Given the description of an element on the screen output the (x, y) to click on. 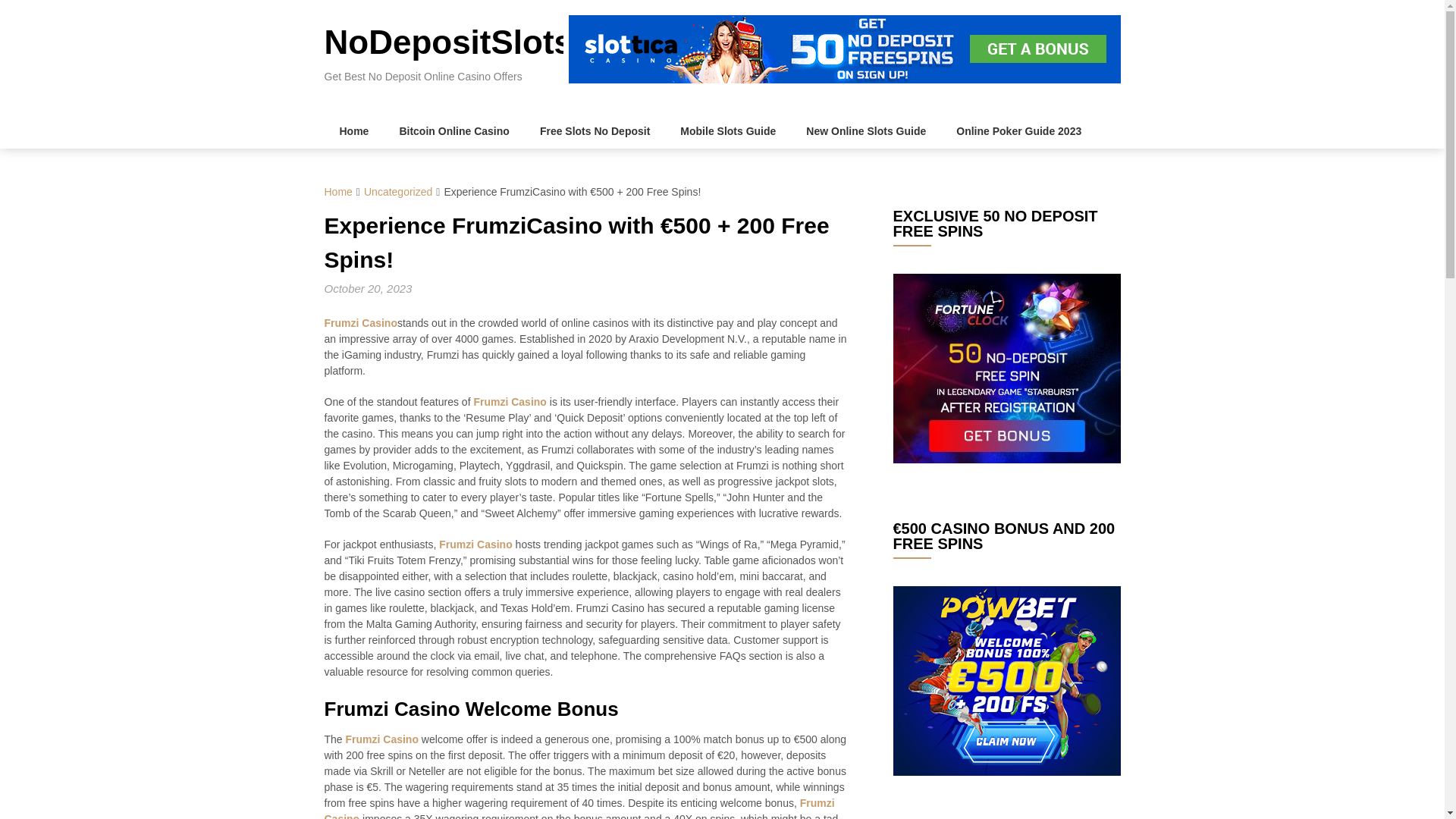
Frumzi Casino (579, 807)
Free Slots No Deposit (594, 131)
Frumzi Casino (360, 322)
Online Poker Guide 2023 (1018, 131)
New Online Slots Guide (865, 131)
Uncategorized (398, 191)
Bitcoin Online Casino (454, 131)
NoDepositSlots (448, 41)
Frumzi Casino (382, 739)
Home (338, 191)
